Given the description of an element on the screen output the (x, y) to click on. 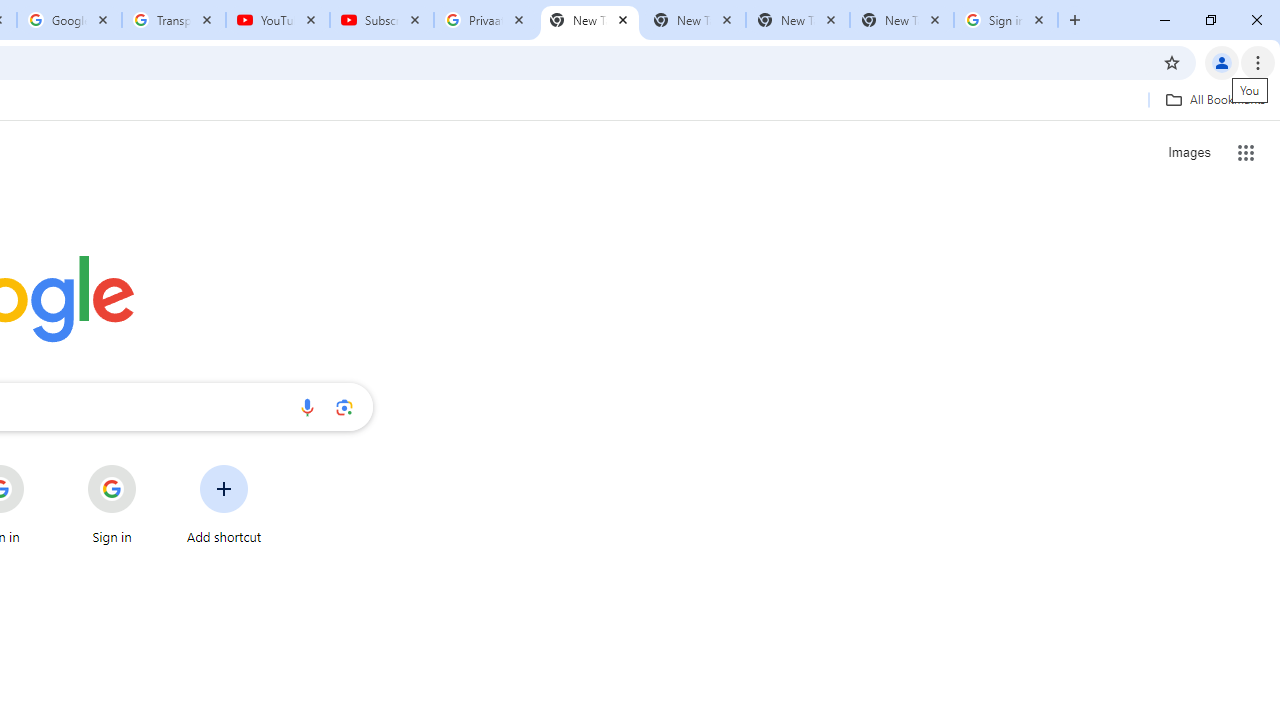
New Tab (901, 20)
